Given the description of an element on the screen output the (x, y) to click on. 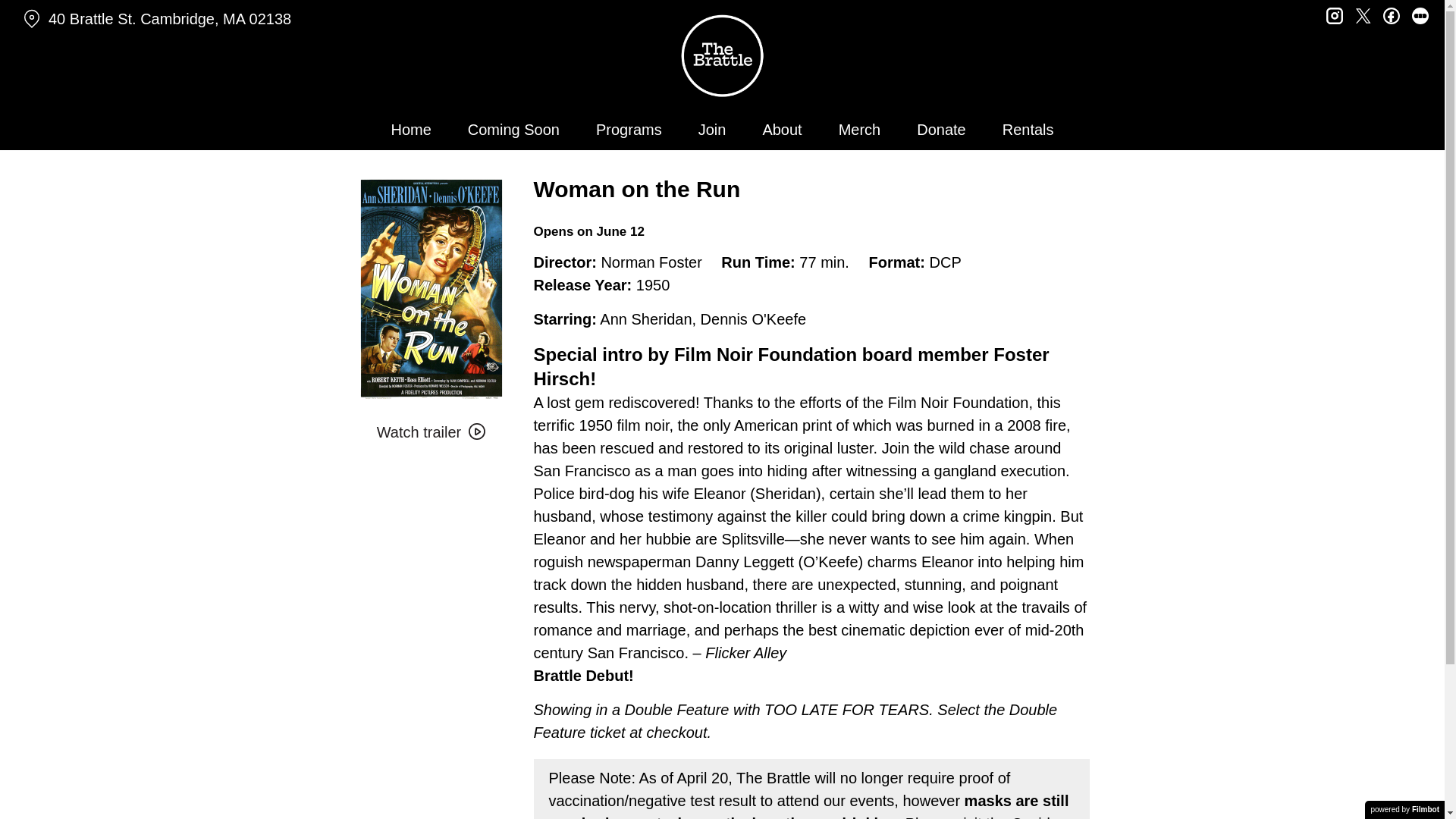
Merch (860, 128)
40 Brattle St. Cambridge, MA 02138 (250, 18)
About (781, 128)
facebook (1391, 13)
Donate (941, 128)
Coming Soon (513, 128)
Home (410, 128)
letterboxd (1420, 13)
Join (711, 128)
Programs (628, 128)
Rentals (1027, 128)
instagram (1334, 13)
twitter (1363, 13)
Watch trailer (430, 431)
